Given the description of an element on the screen output the (x, y) to click on. 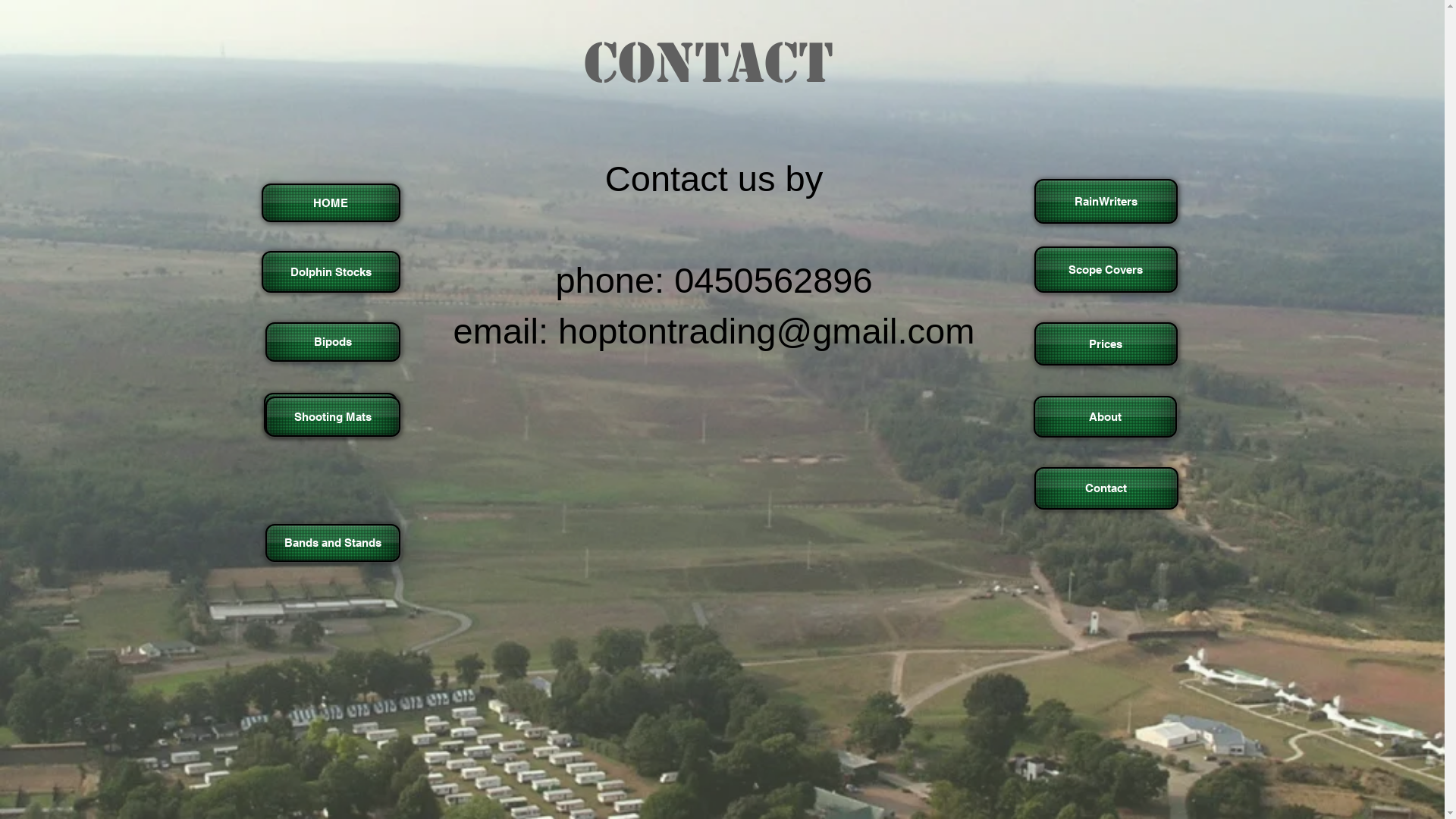
Scope Rings Element type: text (330, 414)
HOME Element type: text (329, 202)
Shooting Mats Element type: text (332, 416)
Prices Element type: text (1105, 343)
Contact Element type: text (1106, 488)
Bipods Element type: text (332, 341)
About Element type: text (1104, 416)
Bands and Stands Element type: text (332, 542)
Scope Covers Element type: text (1105, 269)
RainWriters Element type: text (1105, 200)
hoptontrading@gmail.com Element type: text (766, 330)
Dolphin Stocks Element type: text (329, 271)
